Given the description of an element on the screen output the (x, y) to click on. 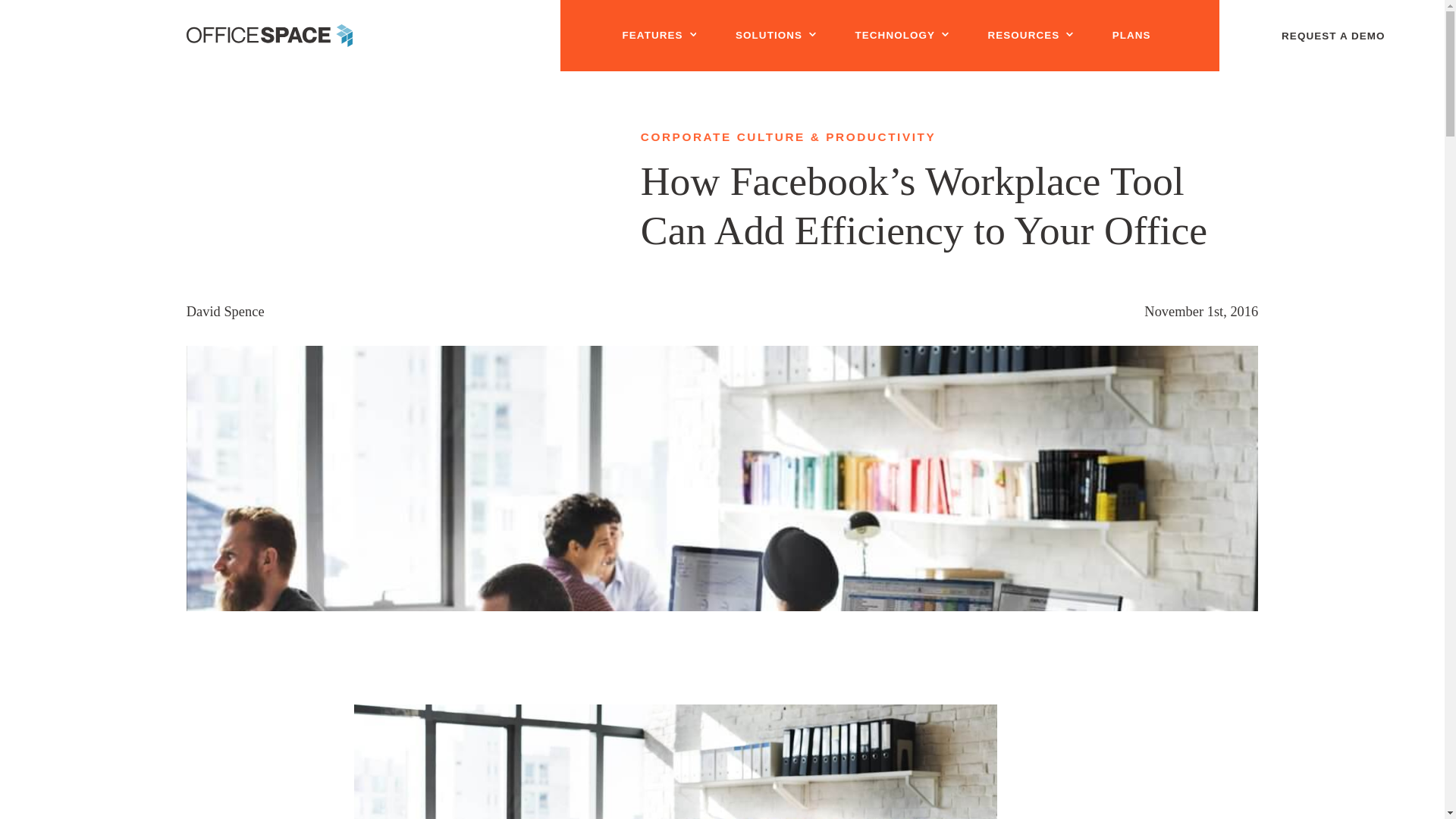
FEATURES (657, 35)
employees working in an office (675, 761)
Office Space (269, 34)
TECHNOLOGY (900, 35)
SOLUTIONS (774, 35)
